Given the description of an element on the screen output the (x, y) to click on. 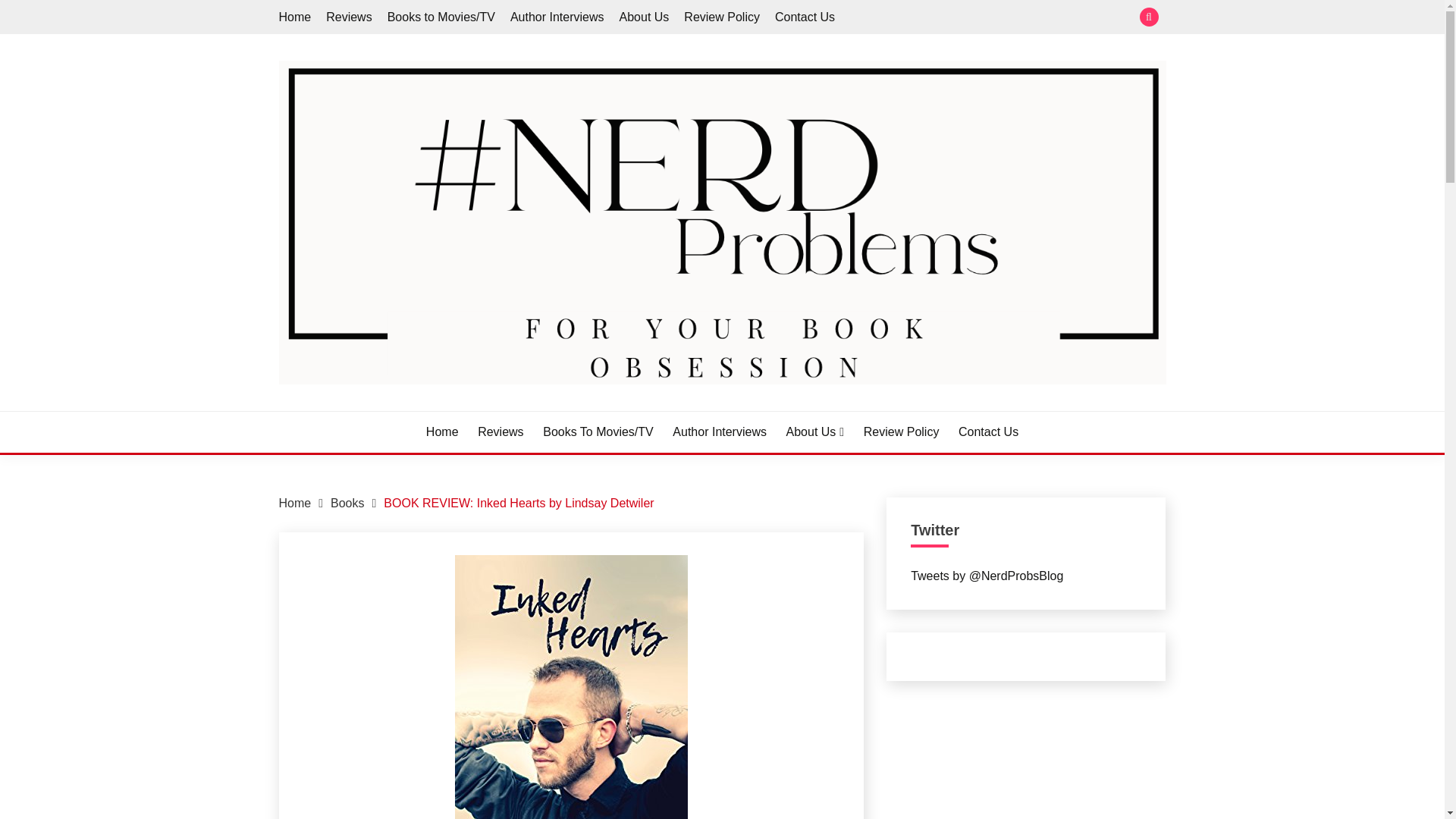
Author Interviews (719, 432)
Review Policy (901, 432)
Reviews (499, 432)
Contact Us (804, 16)
Home (442, 432)
Search (832, 18)
Review Policy (722, 16)
Author Interviews (557, 16)
Home (295, 502)
About Us (815, 432)
